Given the description of an element on the screen output the (x, y) to click on. 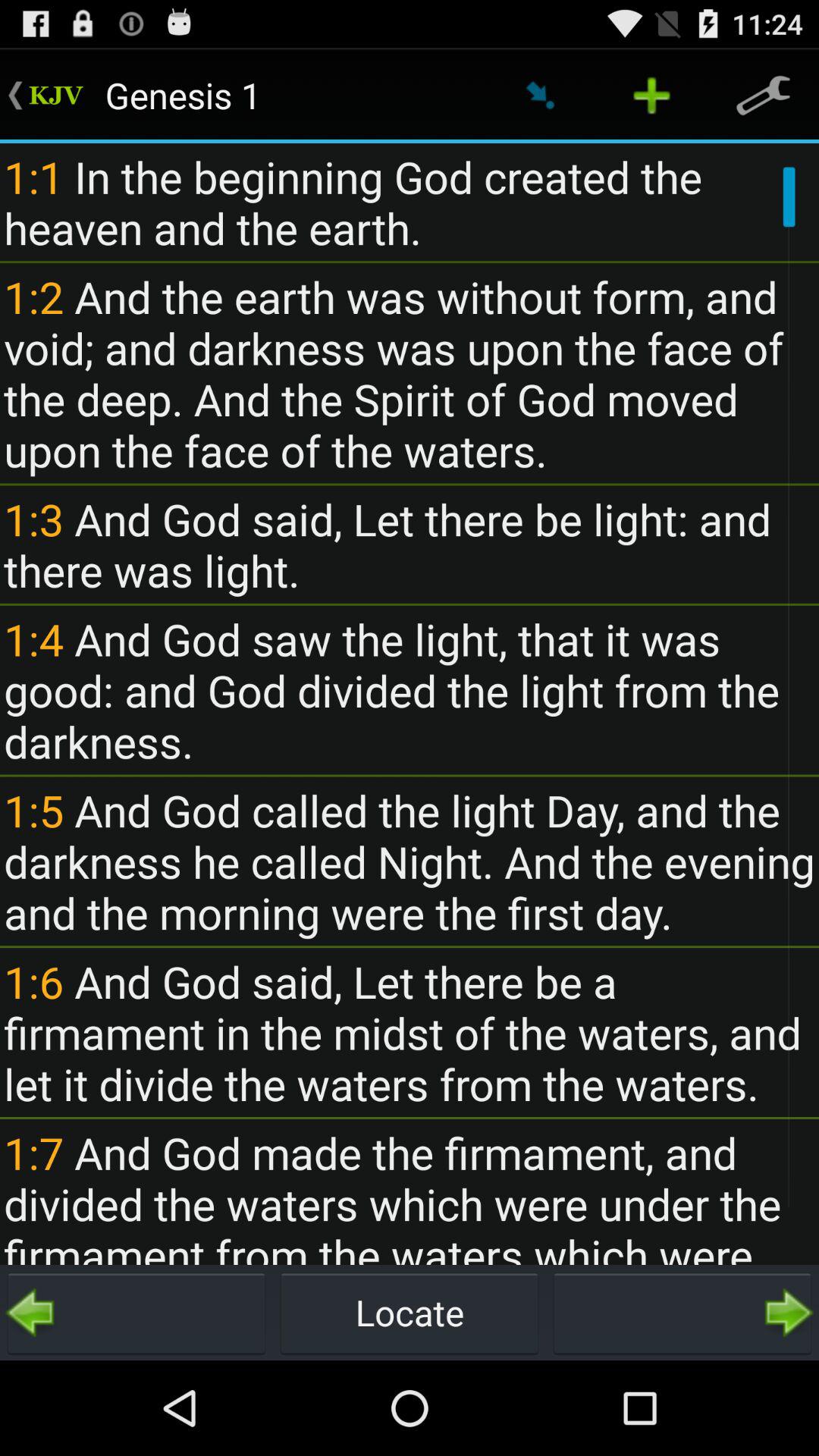
press the item at the bottom right corner (682, 1312)
